Given the description of an element on the screen output the (x, y) to click on. 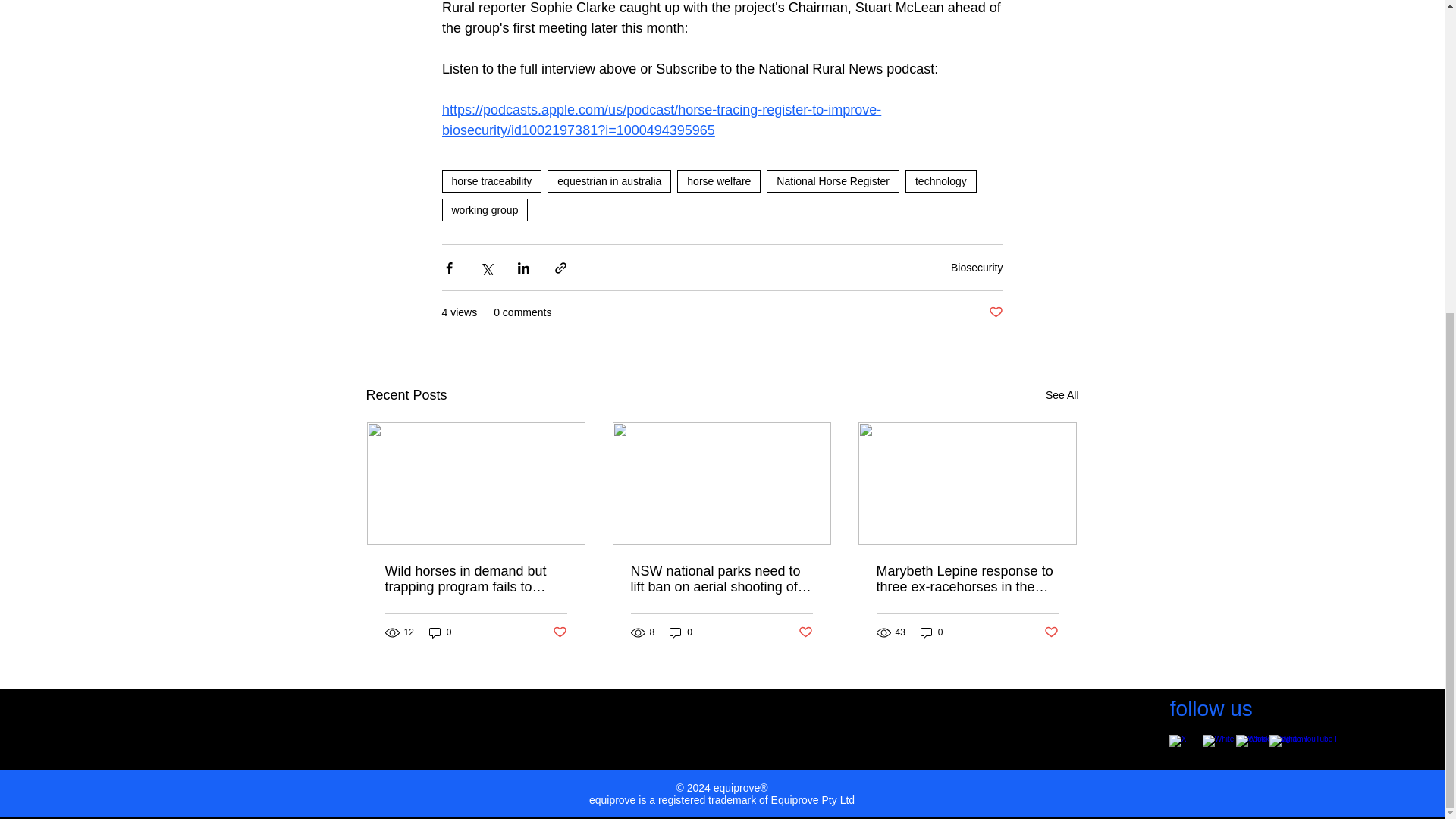
technology (940, 180)
0 (931, 631)
equestrian in australia (609, 180)
working group (484, 210)
Biosecurity (976, 266)
Post not marked as liked (804, 632)
horse traceability (491, 180)
0 (440, 631)
